Given the description of an element on the screen output the (x, y) to click on. 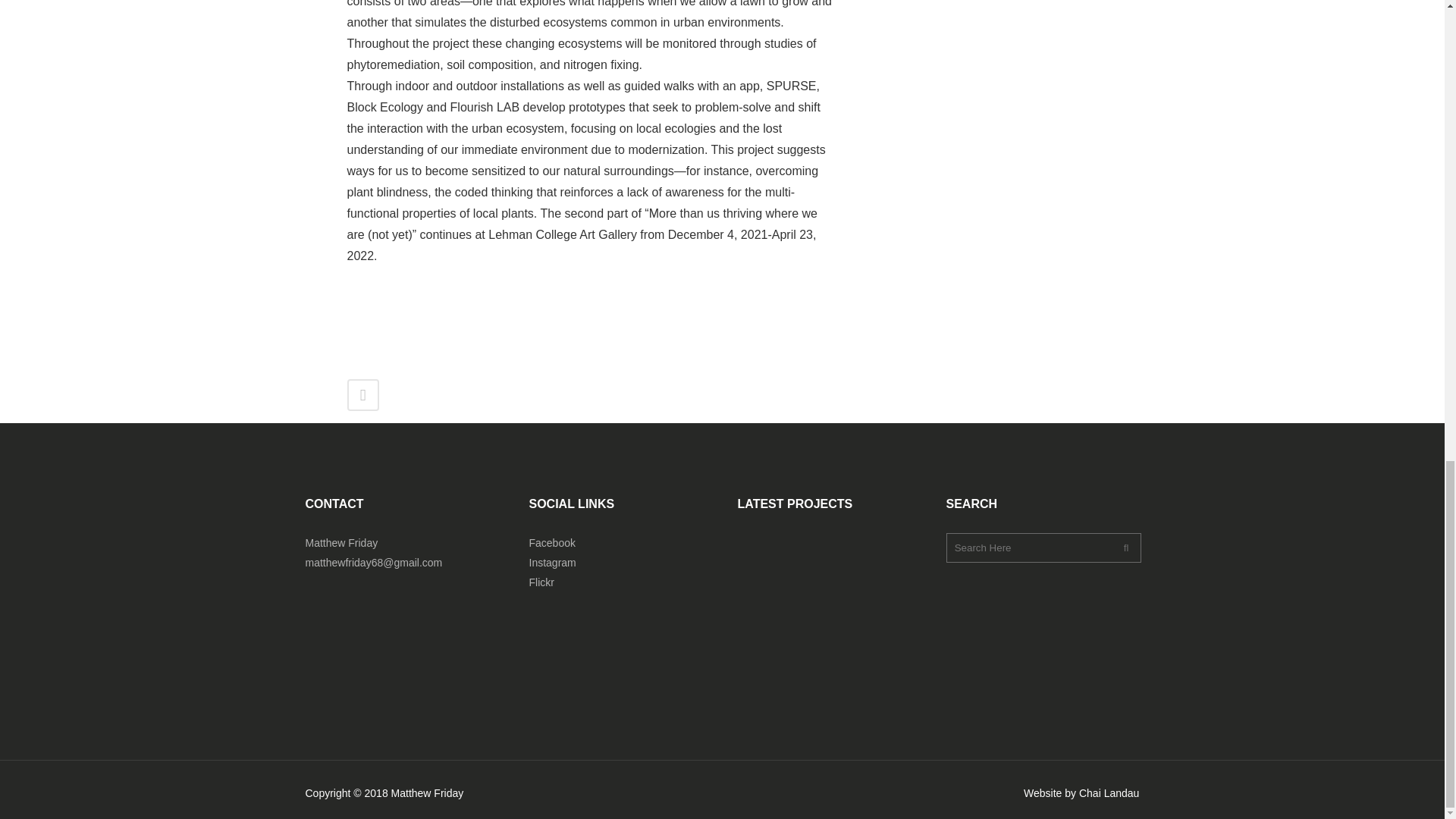
Facebook (552, 542)
Instagram (552, 562)
Flickr (541, 582)
